Given the description of an element on the screen output the (x, y) to click on. 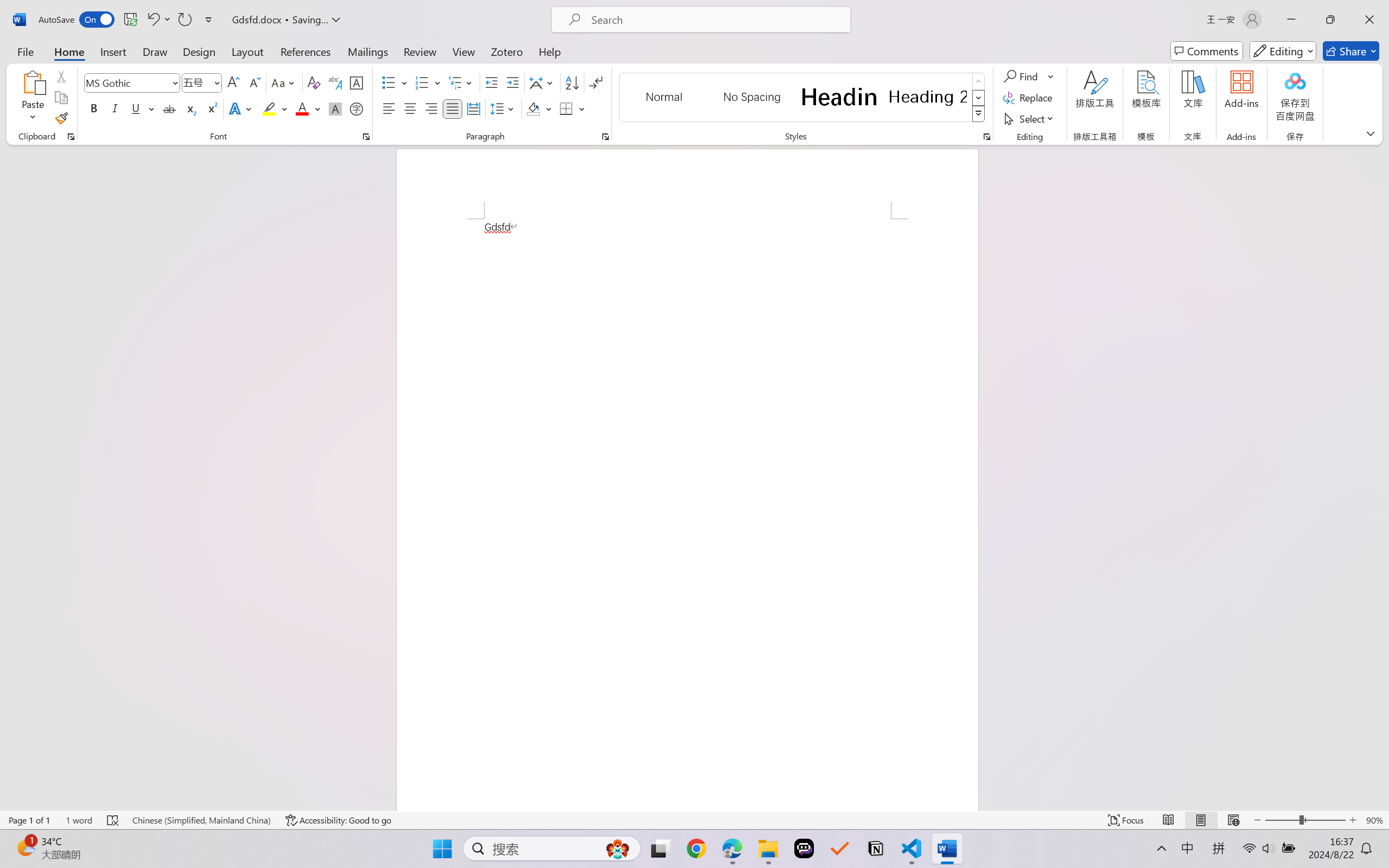
Shading RGB(0, 0, 0) (533, 108)
Text Highlight Color Yellow (269, 108)
Line and Paragraph Spacing (503, 108)
Styles... (986, 136)
Asian Layout (542, 82)
Copy (60, 97)
